Given the description of an element on the screen output the (x, y) to click on. 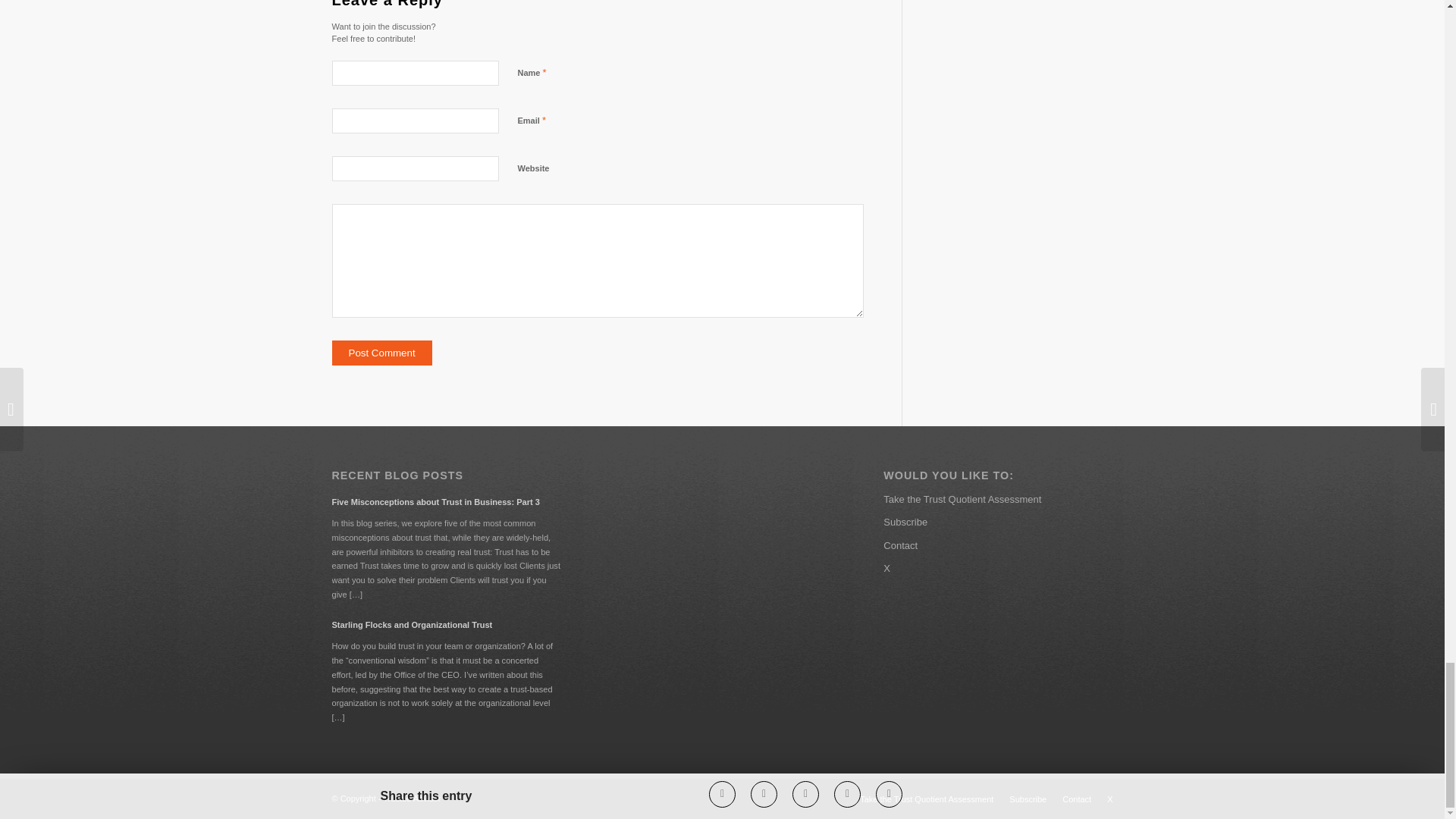
Five Misconceptions about Trust in Business: Part 3 (445, 501)
Starling Flocks and Organizational Trust (445, 624)
Post Comment (381, 352)
